Given the description of an element on the screen output the (x, y) to click on. 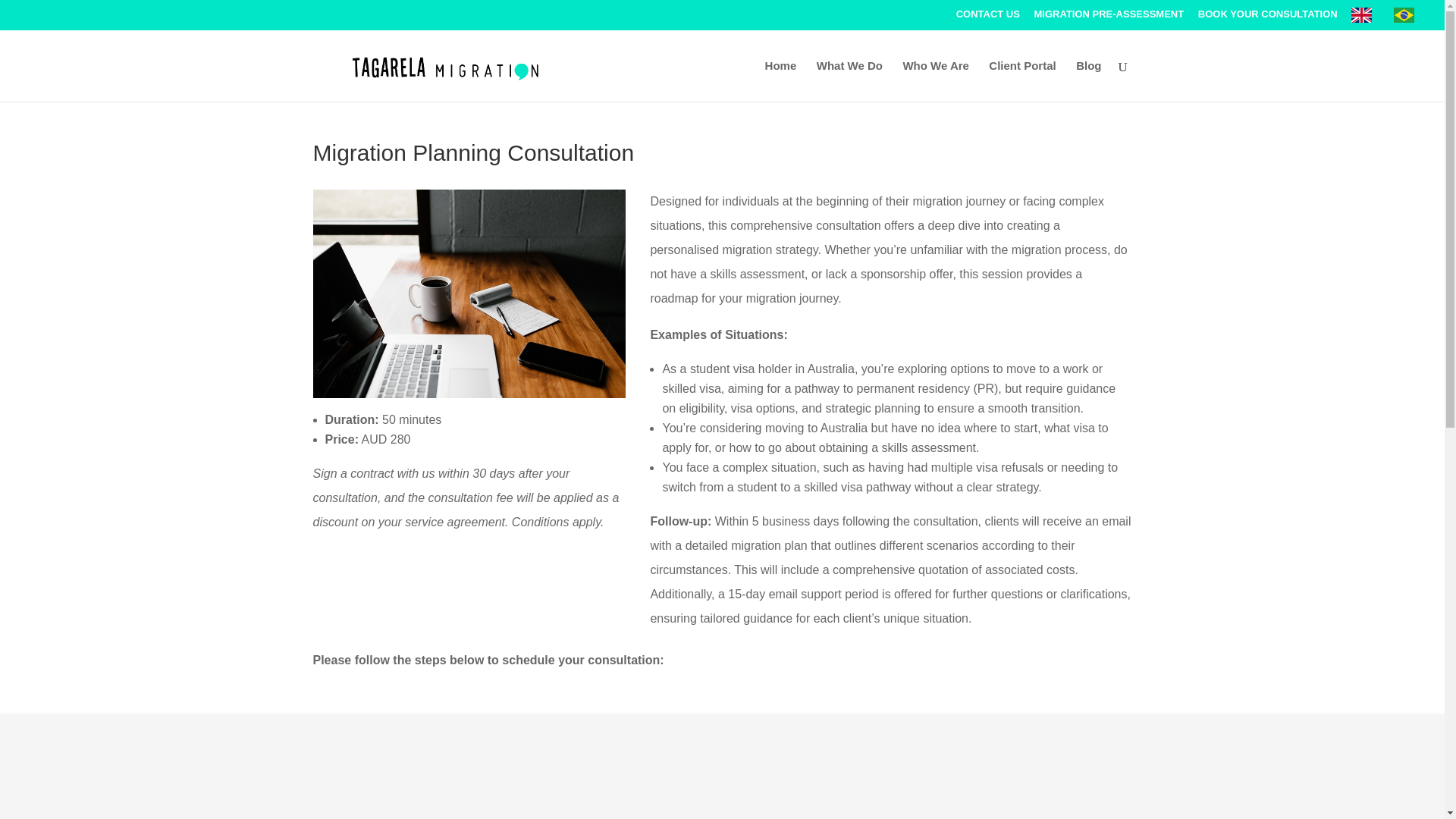
Client Portal (1021, 80)
Who We Are (935, 80)
BOOK YOUR CONSULTATION (1268, 17)
MIGRATION PRE-ASSESSMENT (1109, 17)
CONTACT US (988, 17)
What We Do (849, 80)
English (1364, 18)
blog page (469, 293)
